Given the description of an element on the screen output the (x, y) to click on. 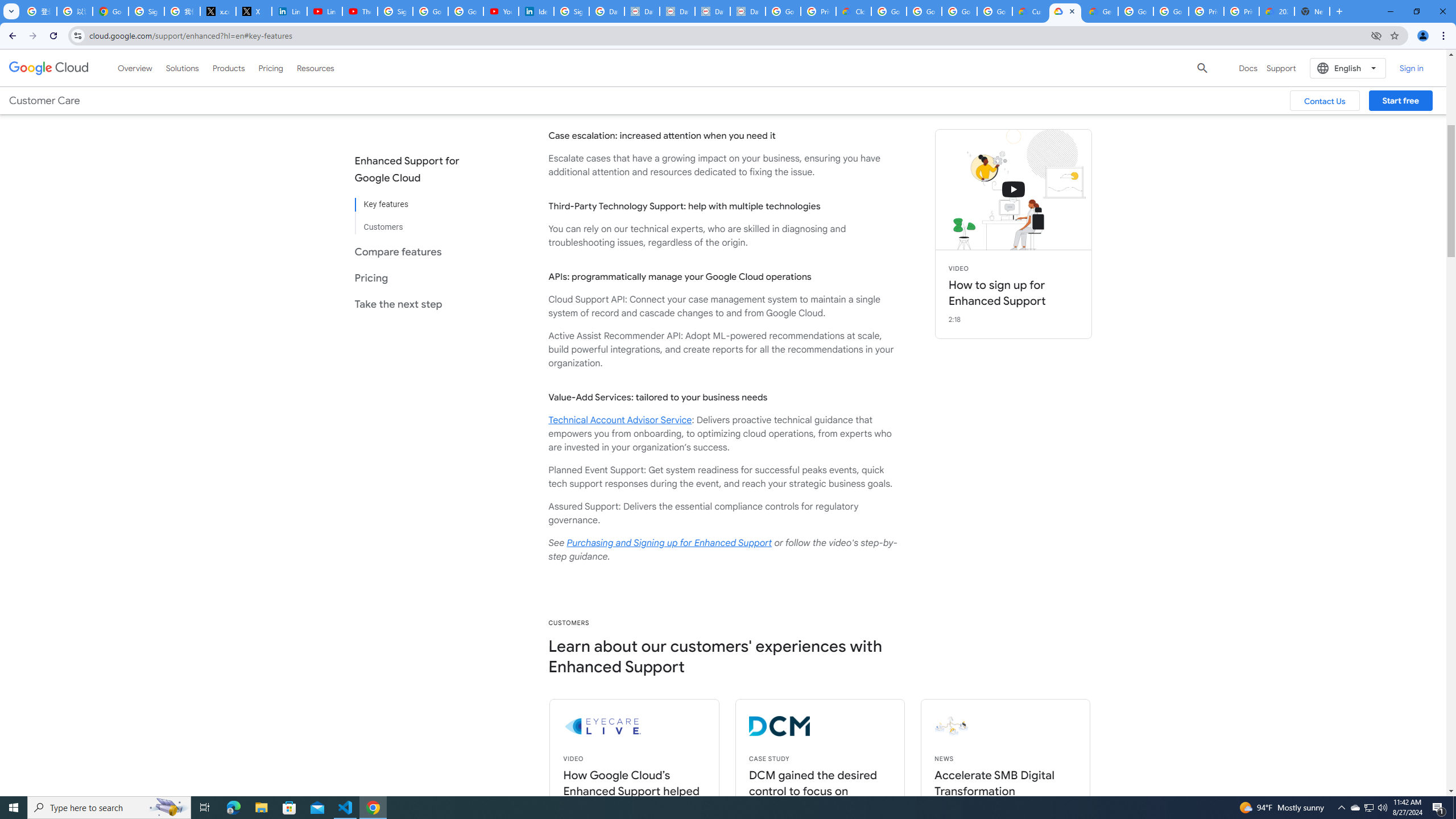
Data Privacy Framework (712, 11)
Google Workspace - Specific Terms (994, 11)
Products (228, 67)
Cloud Data Processing Addendum | Google Cloud (853, 11)
LinkedIn Privacy Policy (288, 11)
